Given the description of an element on the screen output the (x, y) to click on. 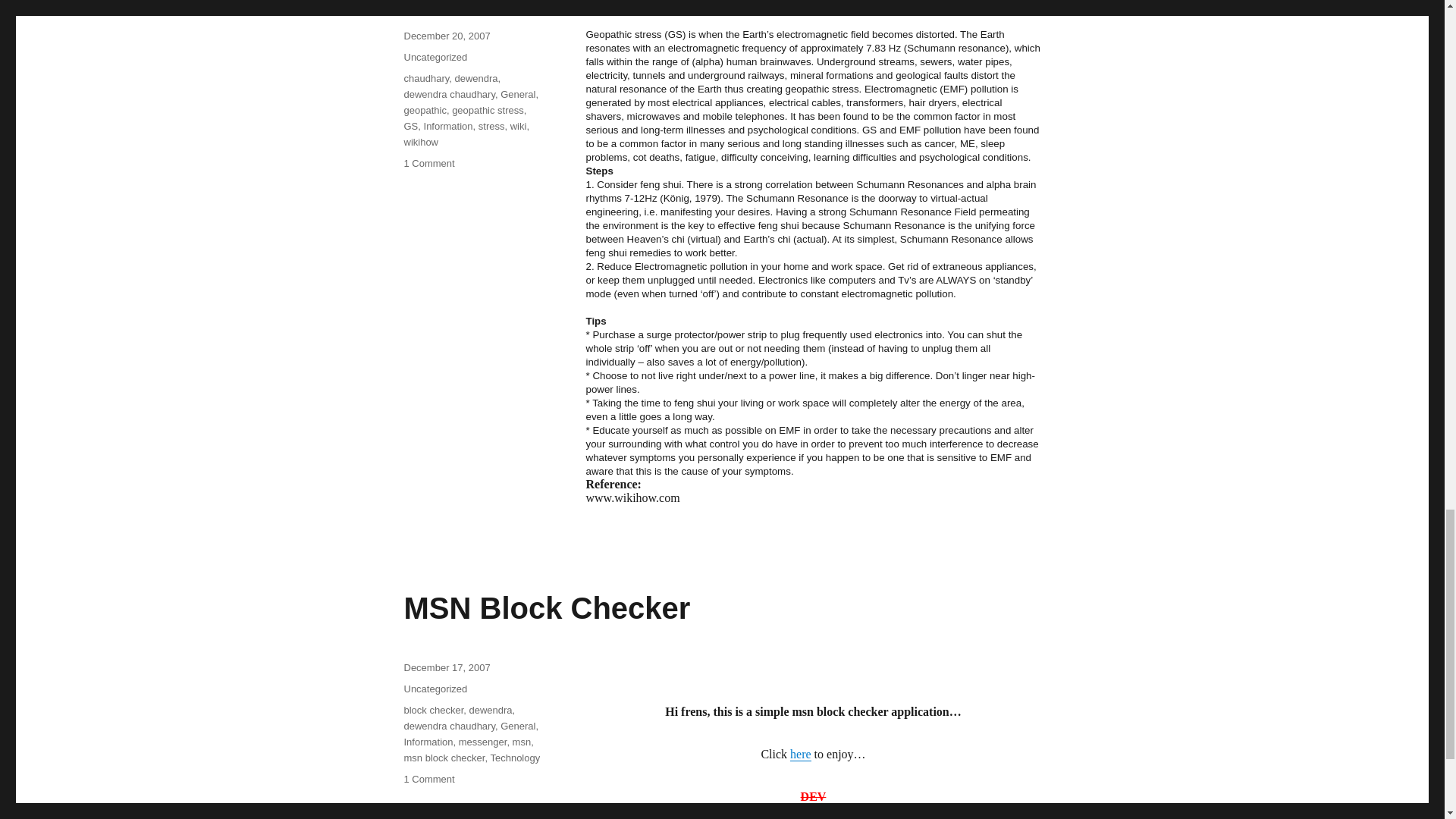
msn (521, 741)
Uncategorized (435, 57)
here (800, 753)
December 17, 2007 (446, 667)
GS (410, 125)
msn blockchecker (800, 753)
geopathic (424, 110)
stress (492, 125)
General (517, 726)
dewendra (490, 709)
block checker (433, 709)
geopathic stress (487, 110)
Information (427, 741)
Uncategorized (435, 688)
messenger (482, 741)
